Given the description of an element on the screen output the (x, y) to click on. 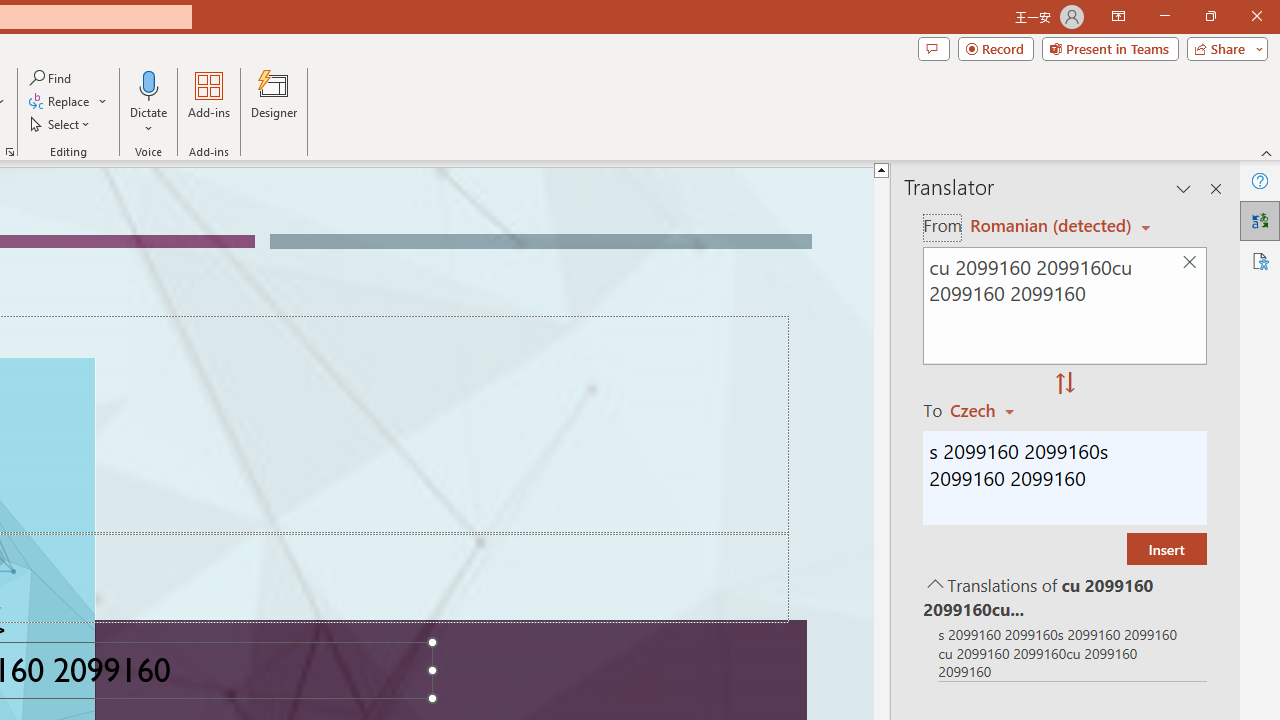
Czech (991, 409)
